Given the description of an element on the screen output the (x, y) to click on. 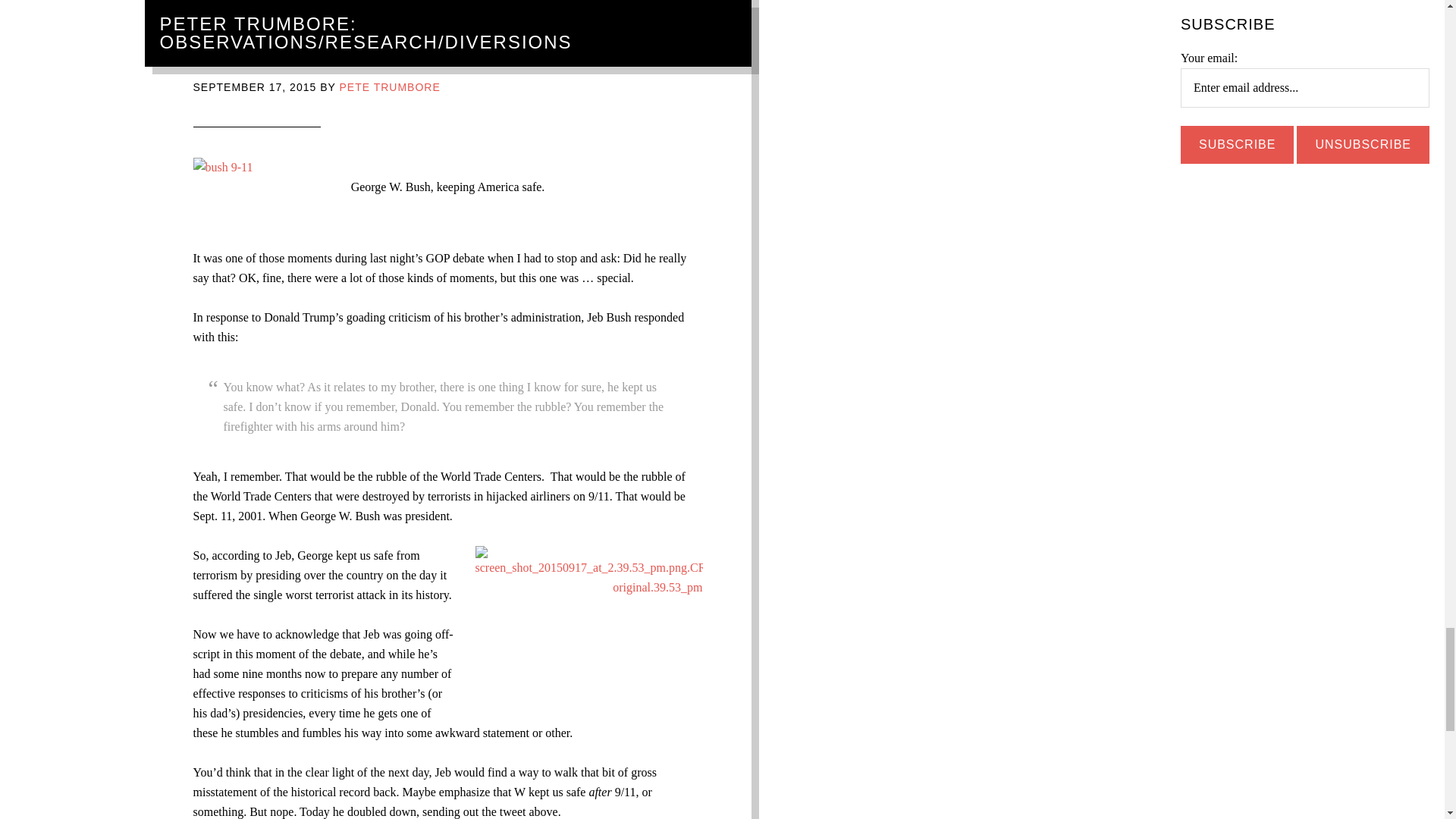
PETE TRUMBORE (389, 87)
Jeb doubles down (302, 54)
